Given the description of an element on the screen output the (x, y) to click on. 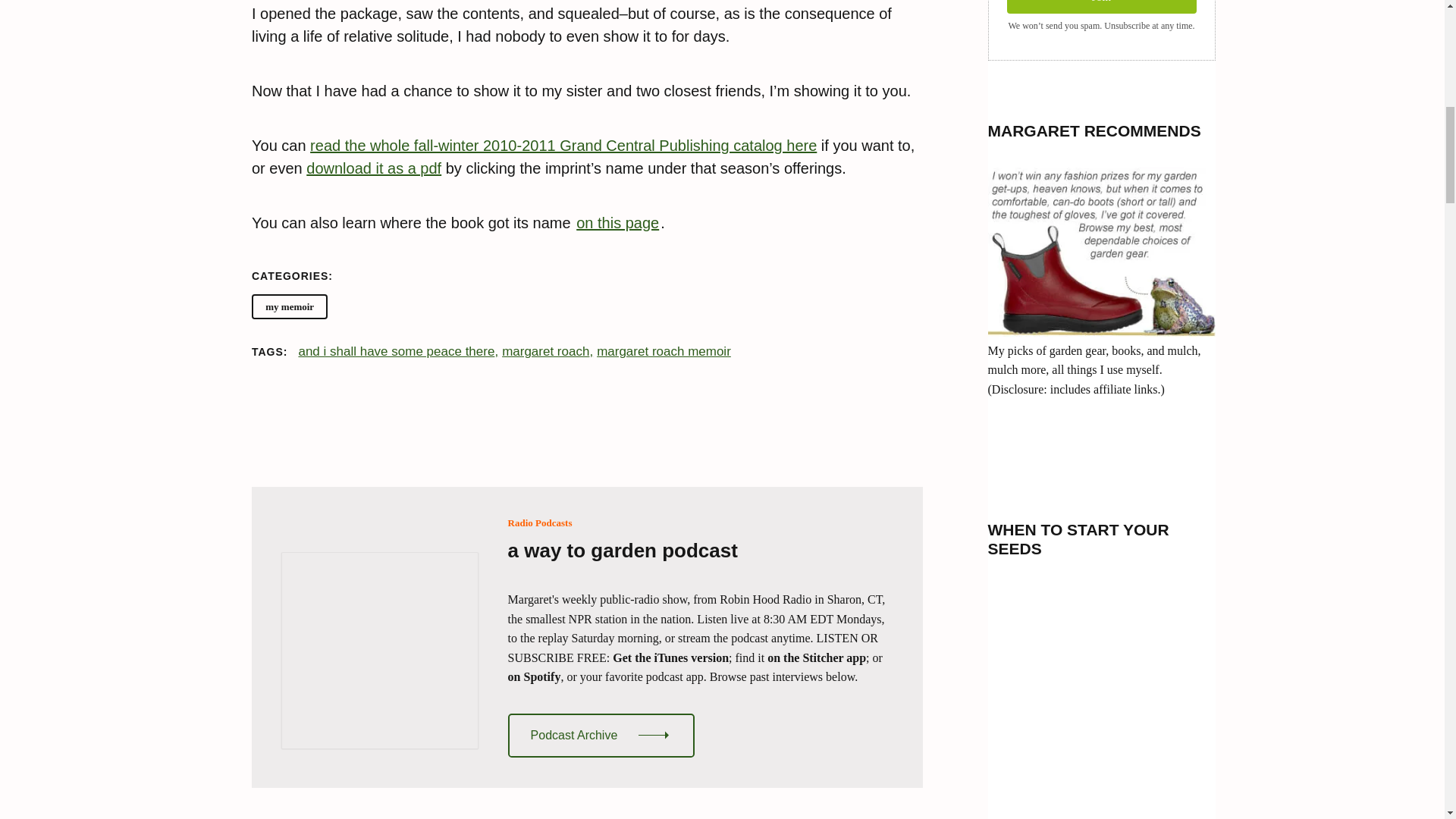
margaret roach (547, 351)
Podcast Archive (601, 735)
download it as a pdf (373, 167)
Get the iTunes version (670, 657)
on Spotify (534, 676)
margaret roach memoir (663, 351)
my memoir (289, 306)
on the Stitcher app (816, 657)
on this page (618, 222)
and i shall have some peace there (397, 351)
